Given the description of an element on the screen output the (x, y) to click on. 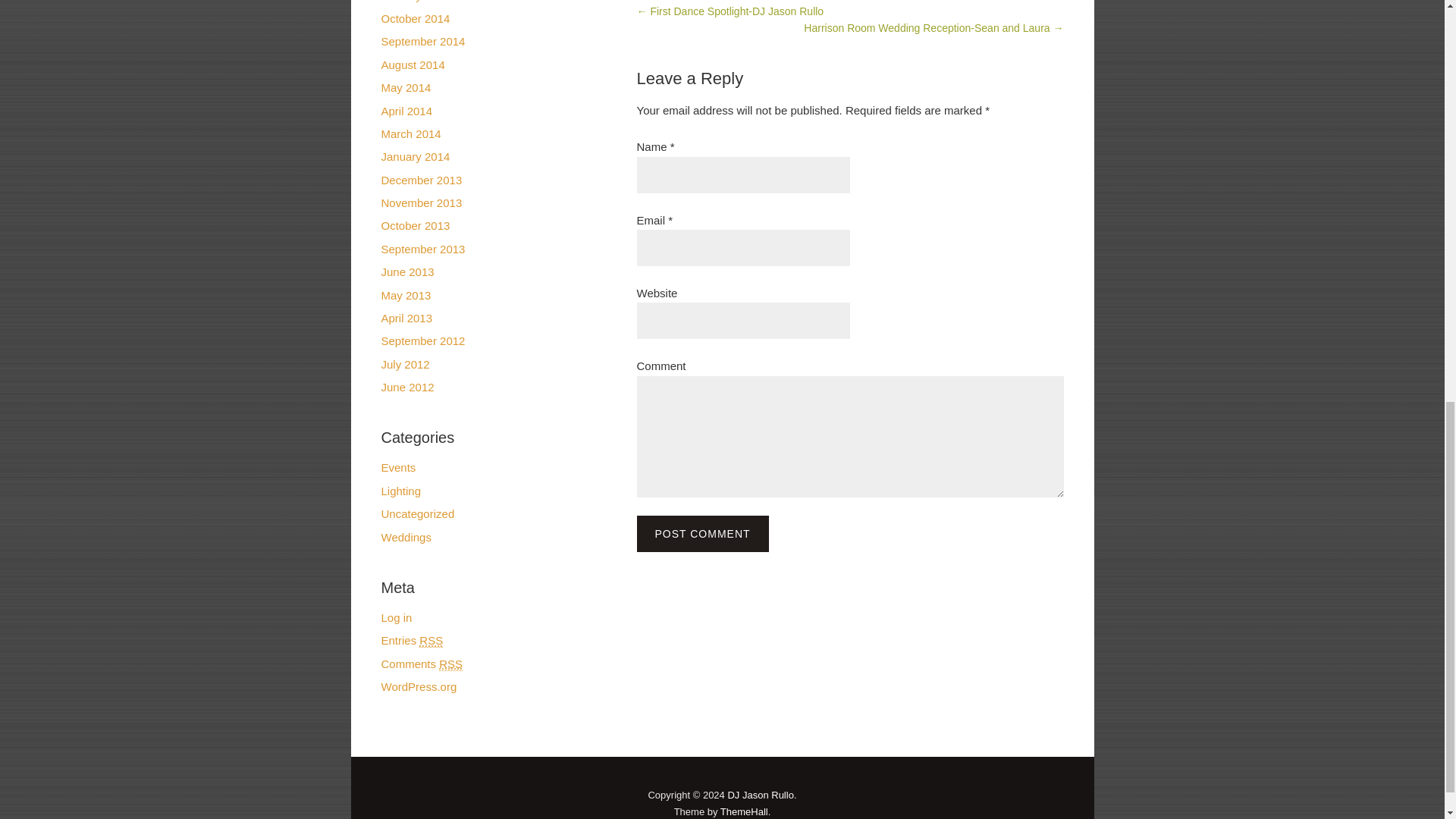
View all posts filed under Weddings (405, 536)
View all posts filed under Uncategorized (417, 513)
September 2014 (422, 41)
May 2014 (405, 87)
Post Comment (702, 533)
Post Comment (702, 533)
August 2014 (412, 64)
View all posts filed under Events (397, 467)
View all posts filed under Lighting (400, 490)
January 2015 (414, 1)
